Given the description of an element on the screen output the (x, y) to click on. 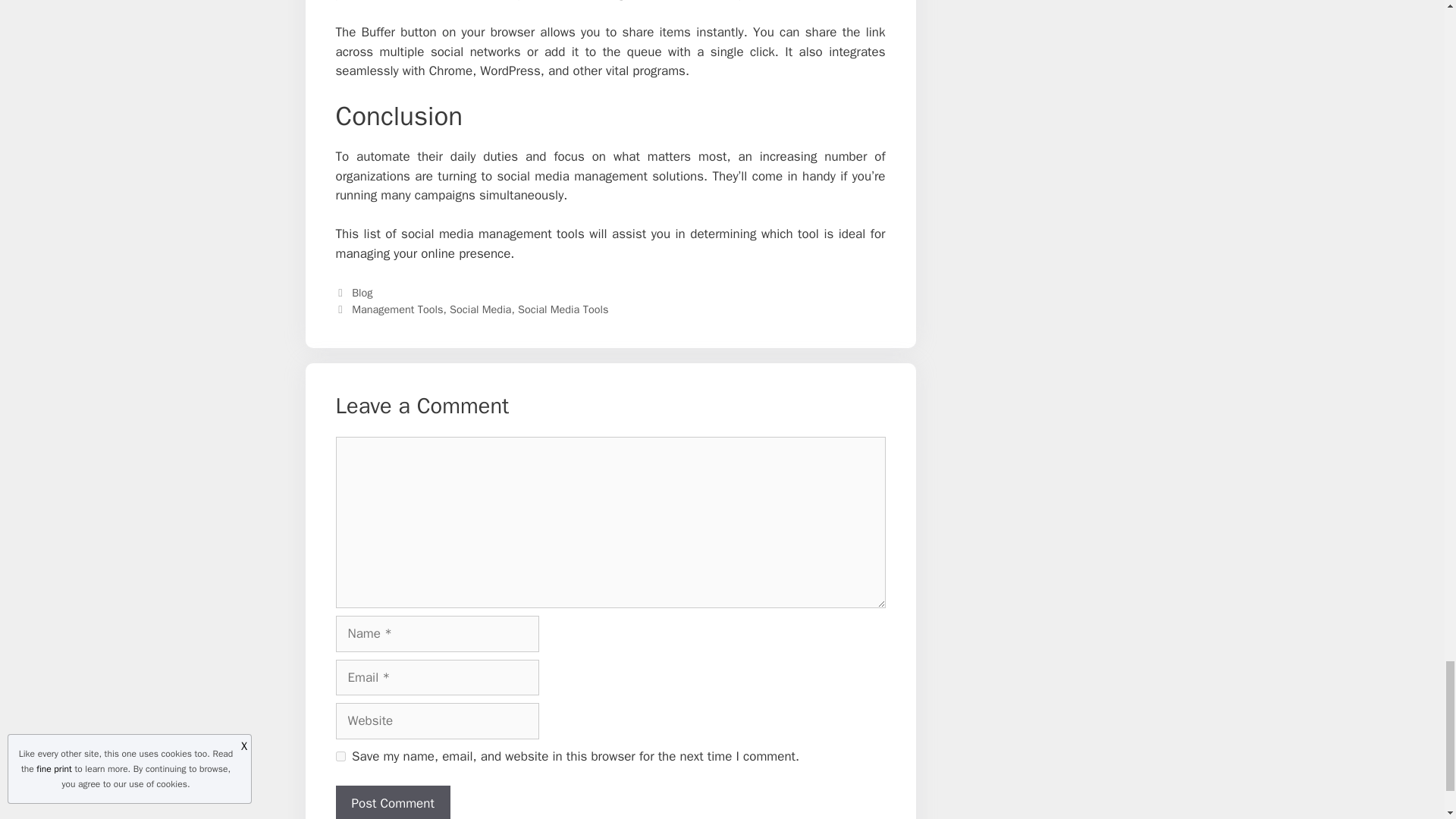
Management Tools (397, 309)
Post Comment (391, 802)
Blog (362, 292)
Social Media (480, 309)
yes (339, 756)
Social Media Tools (563, 309)
Post Comment (391, 802)
